Given the description of an element on the screen output the (x, y) to click on. 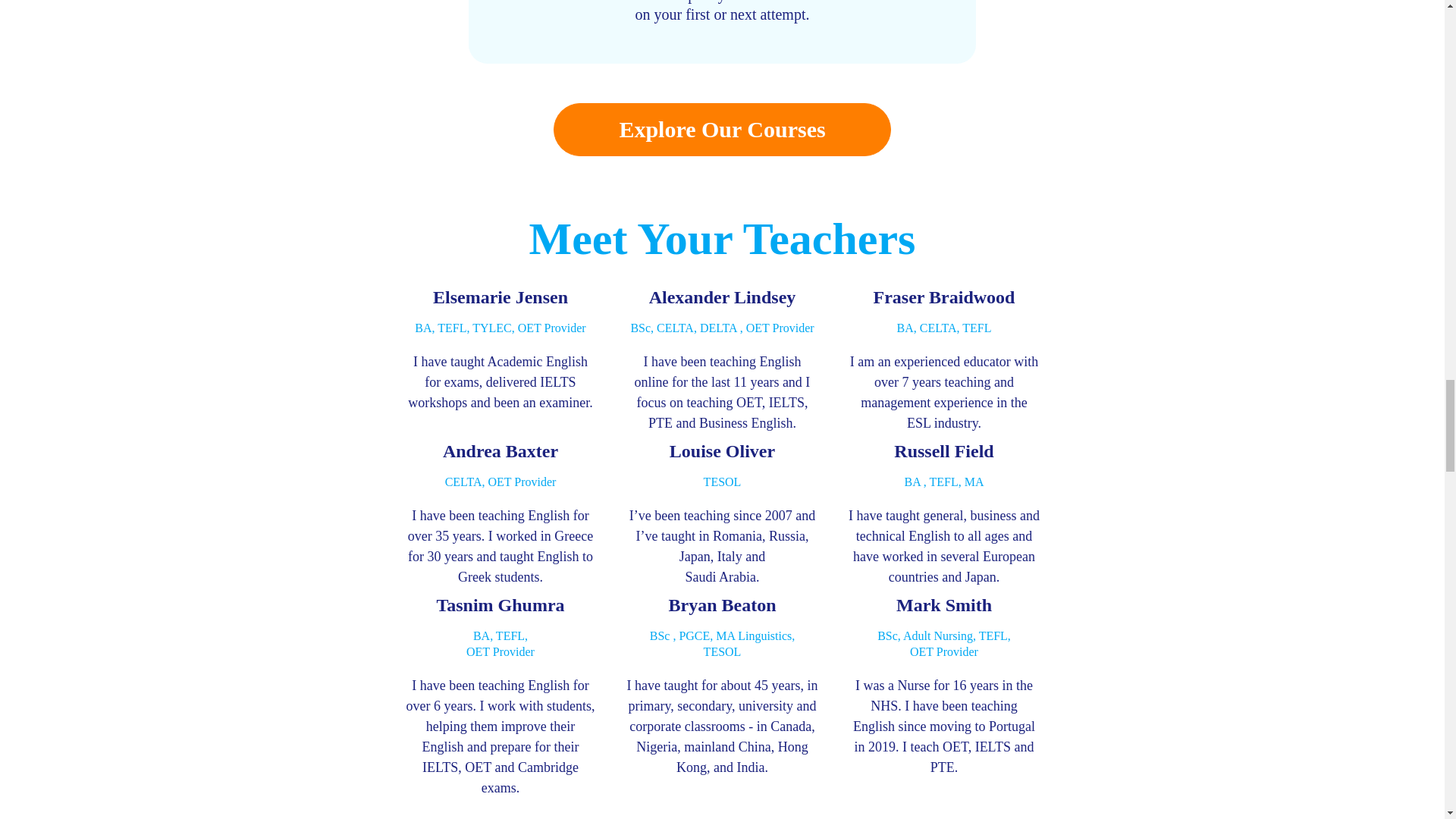
Explore Our Courses (721, 129)
